Given the description of an element on the screen output the (x, y) to click on. 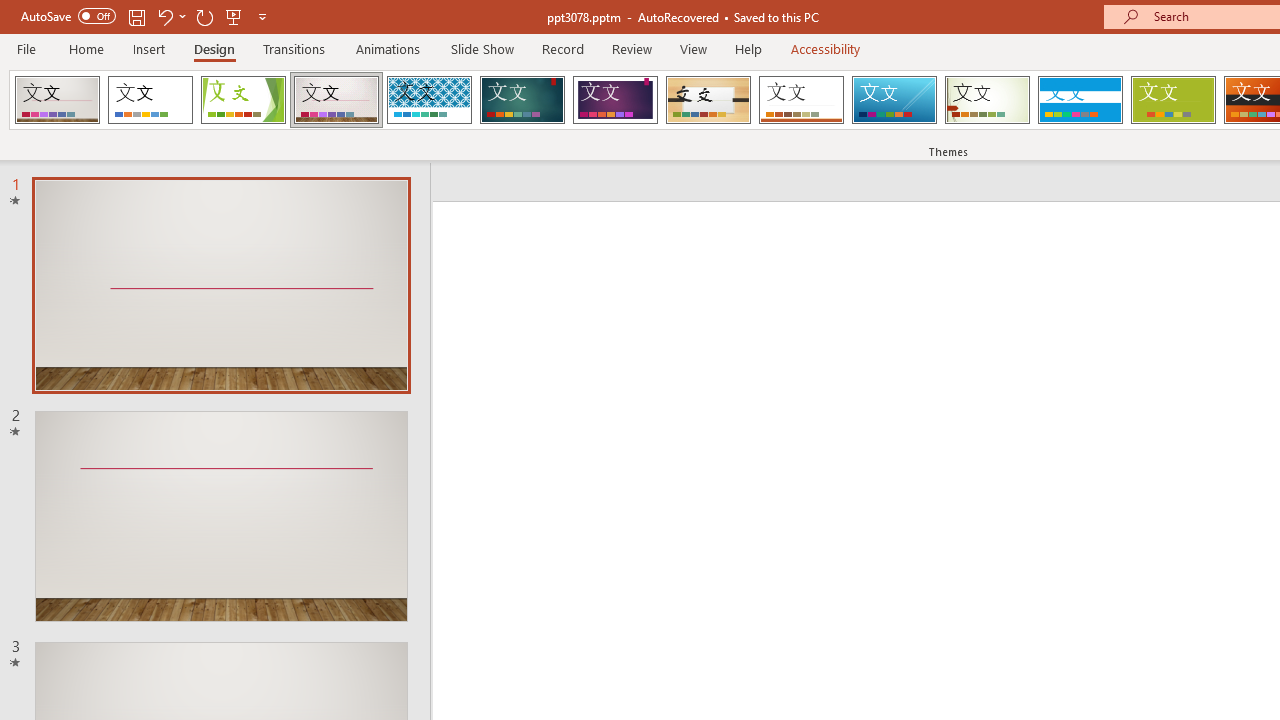
Organic (708, 100)
Damask (57, 100)
Wisp (987, 100)
